Given the description of an element on the screen output the (x, y) to click on. 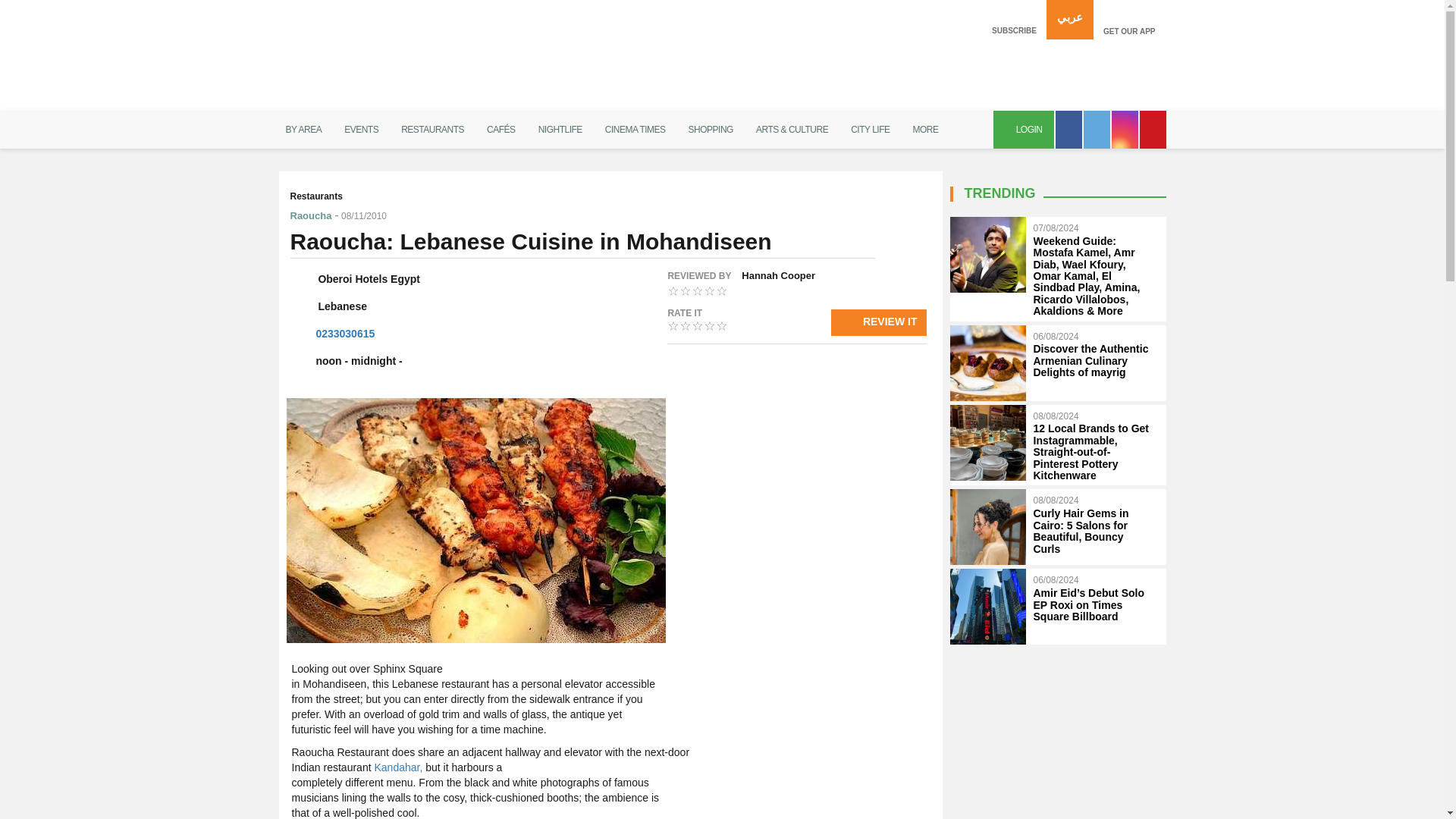
SUBSCRIBE (1013, 19)
SHOPPING (710, 129)
LOGIN (1023, 129)
REVIEW IT (878, 321)
NIGHTLIFE (560, 129)
BY AREA (304, 129)
GET OUR APP (1129, 19)
MORE (925, 129)
CINEMA TIMES (635, 129)
EVENTS (361, 129)
